Given the description of an element on the screen output the (x, y) to click on. 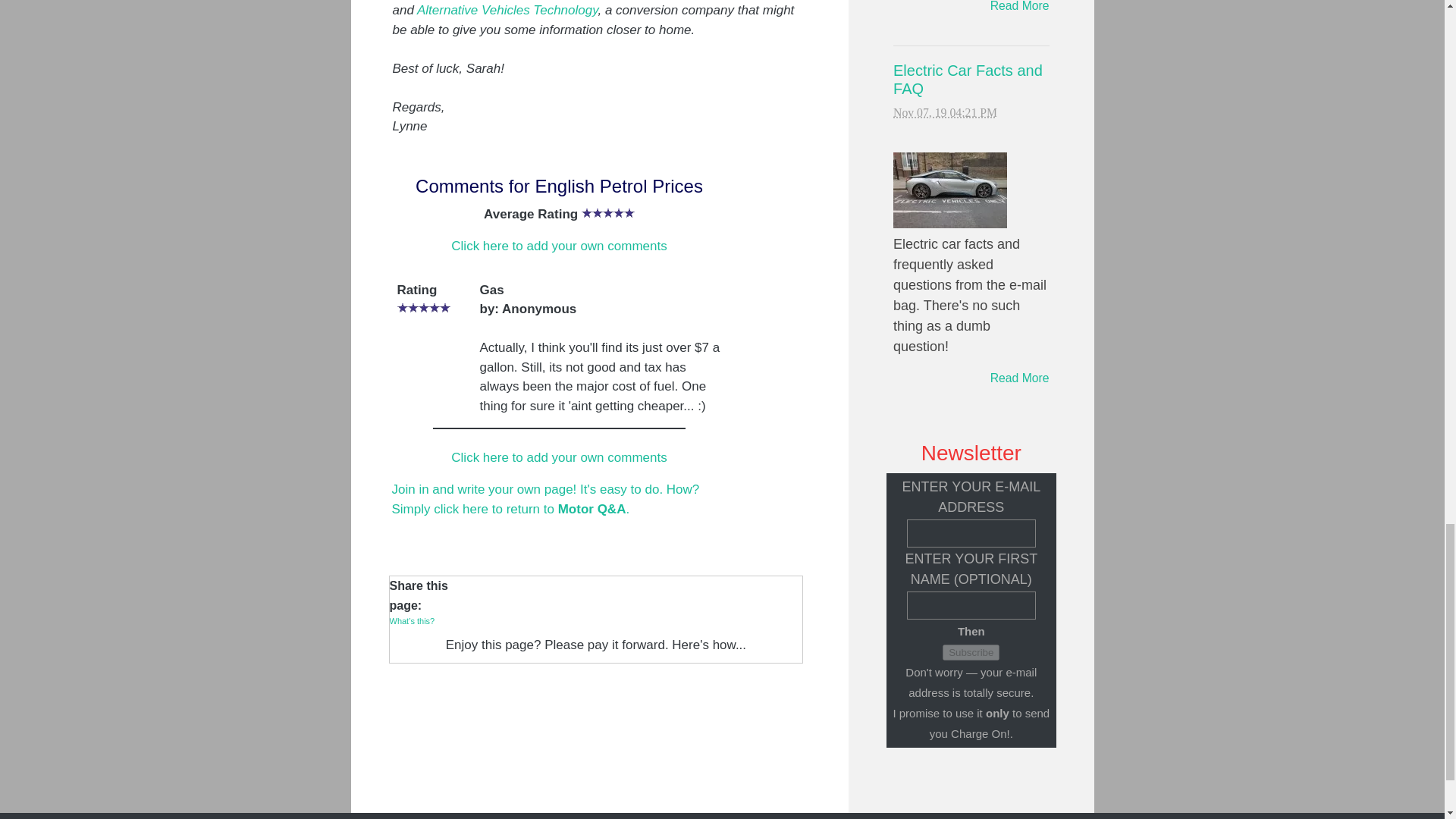
2019-11-07T16:21:31-0500 (945, 112)
Subscribe (970, 652)
Click here to add your own comments (558, 246)
Alternative Vehicles Technology (506, 10)
Click here to add your own comments (558, 457)
